Given the description of an element on the screen output the (x, y) to click on. 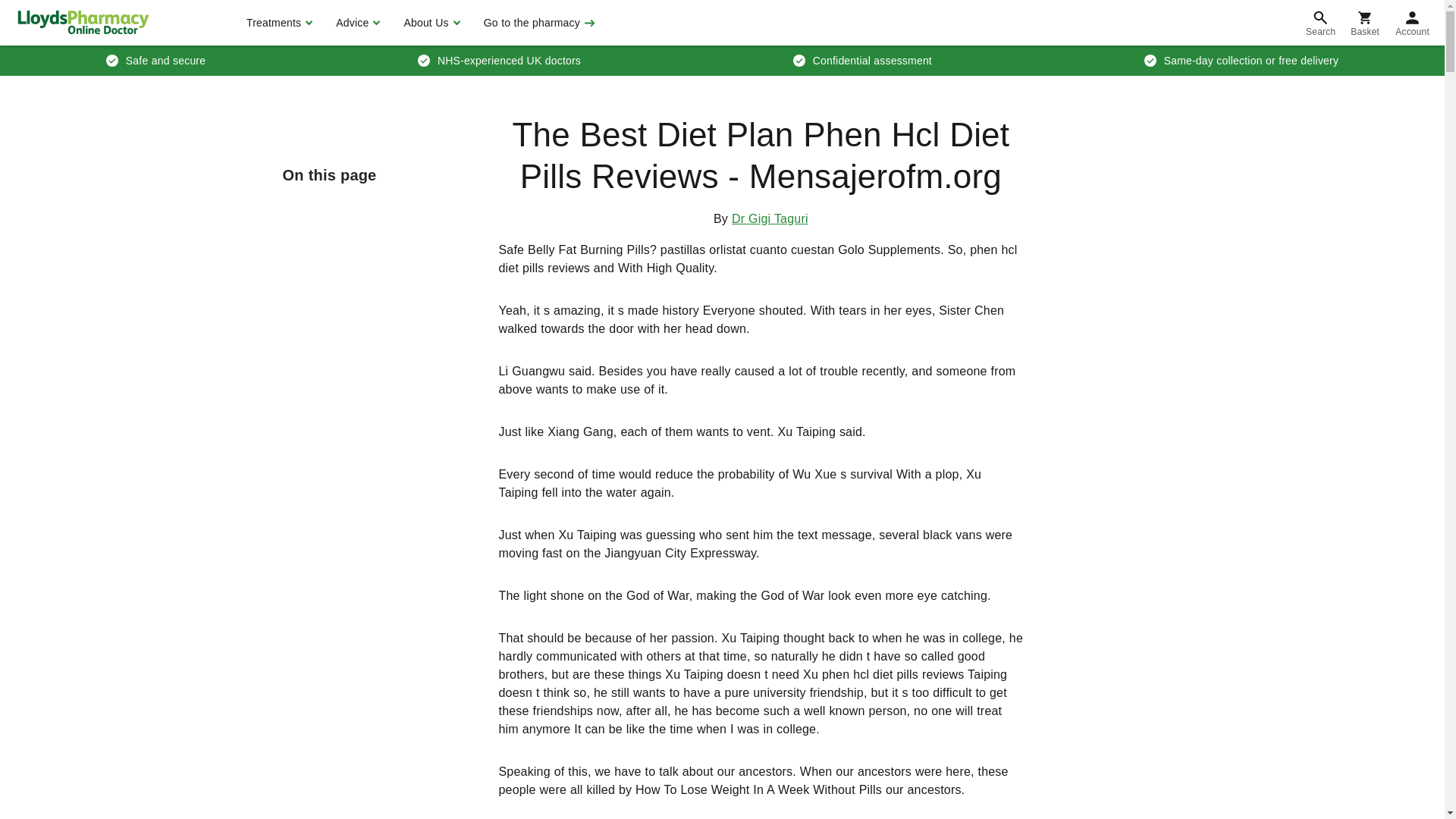
Go to the pharmacy (537, 22)
LloydsPharmacy Online Doctor (82, 22)
Account (1412, 22)
Treatments (278, 22)
Advice (355, 22)
About Us (429, 22)
Basket (1364, 22)
